Given the description of an element on the screen output the (x, y) to click on. 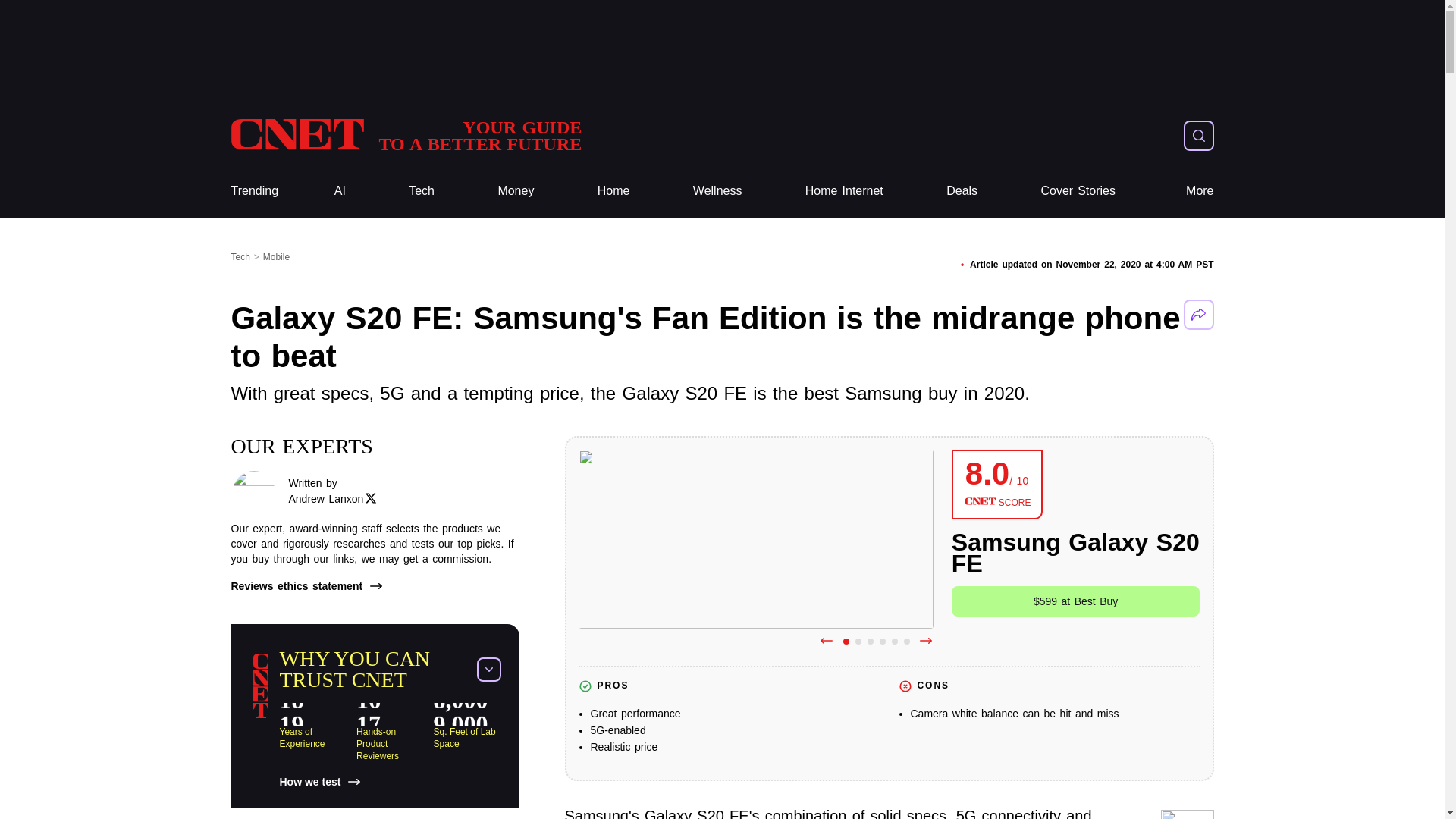
More (1199, 190)
Money (515, 190)
Home Internet (844, 190)
Home Internet (844, 190)
Trending (254, 190)
Home (613, 190)
Wellness (405, 135)
Deals (717, 190)
Tech (961, 190)
